Given the description of an element on the screen output the (x, y) to click on. 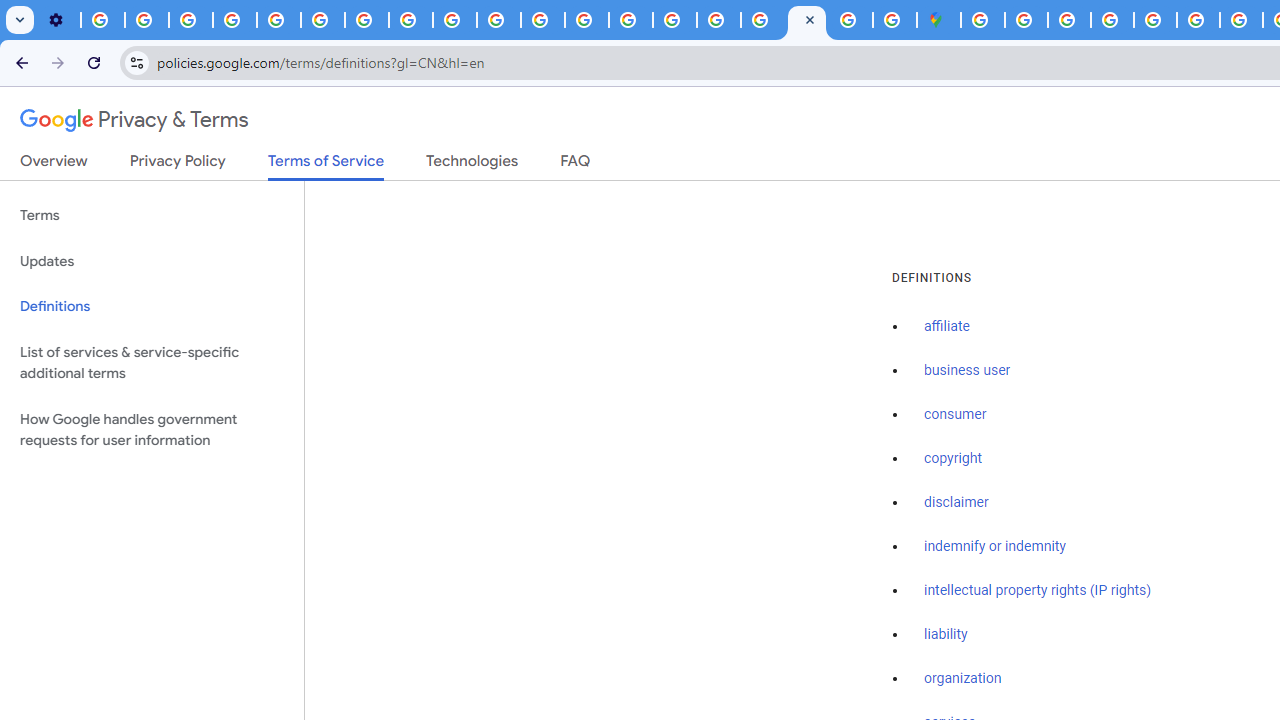
liability (945, 634)
Privacy Help Center - Policies Help (278, 20)
Privacy Help Center - Policies Help (1241, 20)
intellectual property rights (IP rights) (1038, 590)
Privacy Help Center - Policies Help (1197, 20)
indemnify or indemnity (995, 546)
